Given the description of an element on the screen output the (x, y) to click on. 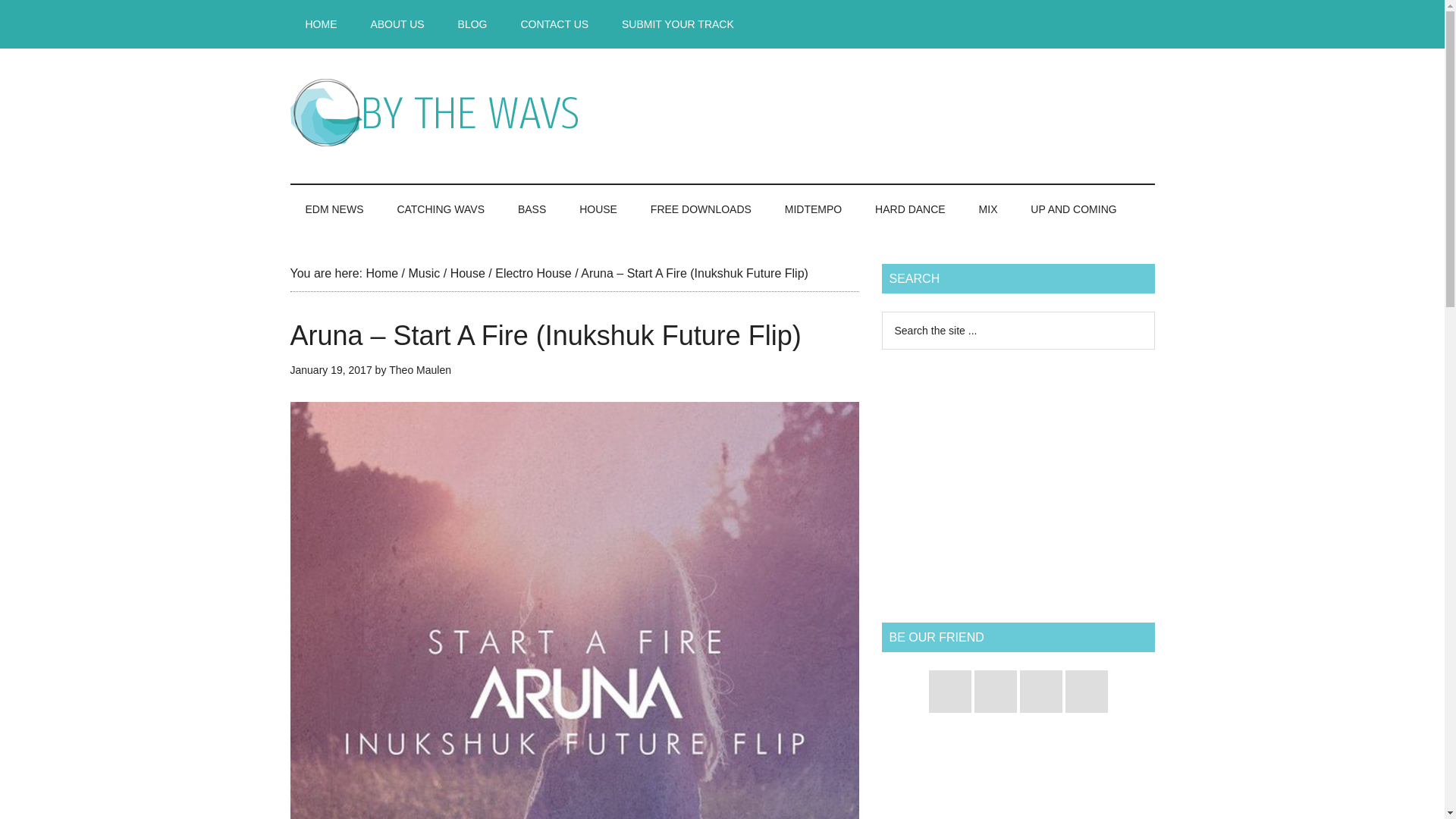
HOME (320, 24)
ABOUT US (397, 24)
CONTACT US (554, 24)
HOUSE (597, 209)
SUBMIT YOUR TRACK (678, 24)
EDM NEWS (333, 209)
Advertisement (878, 112)
MIX (988, 209)
FREE DOWNLOADS (700, 209)
BLOG (472, 24)
